Given the description of an element on the screen output the (x, y) to click on. 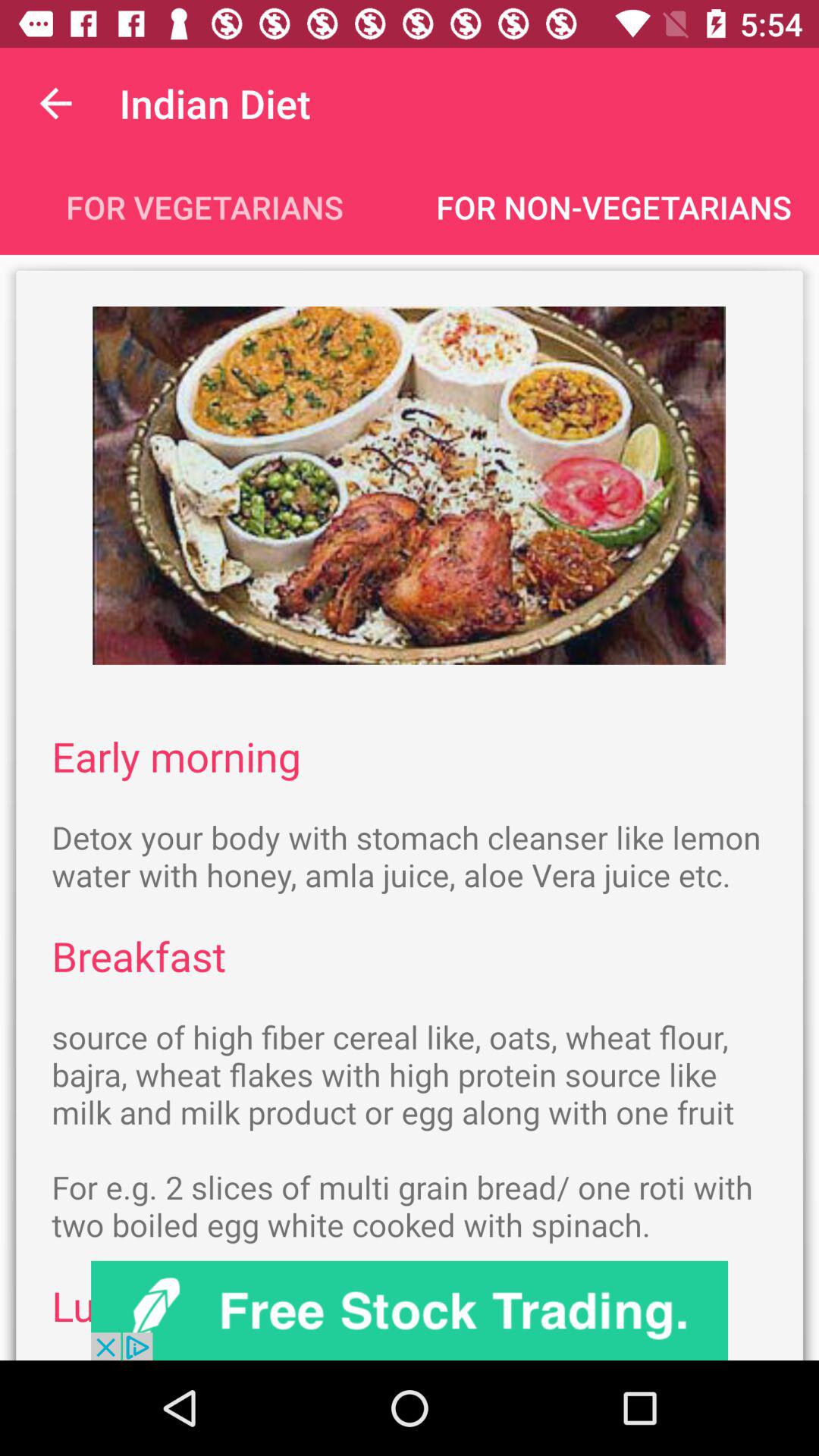
view the advertisement (409, 1310)
